Given the description of an element on the screen output the (x, y) to click on. 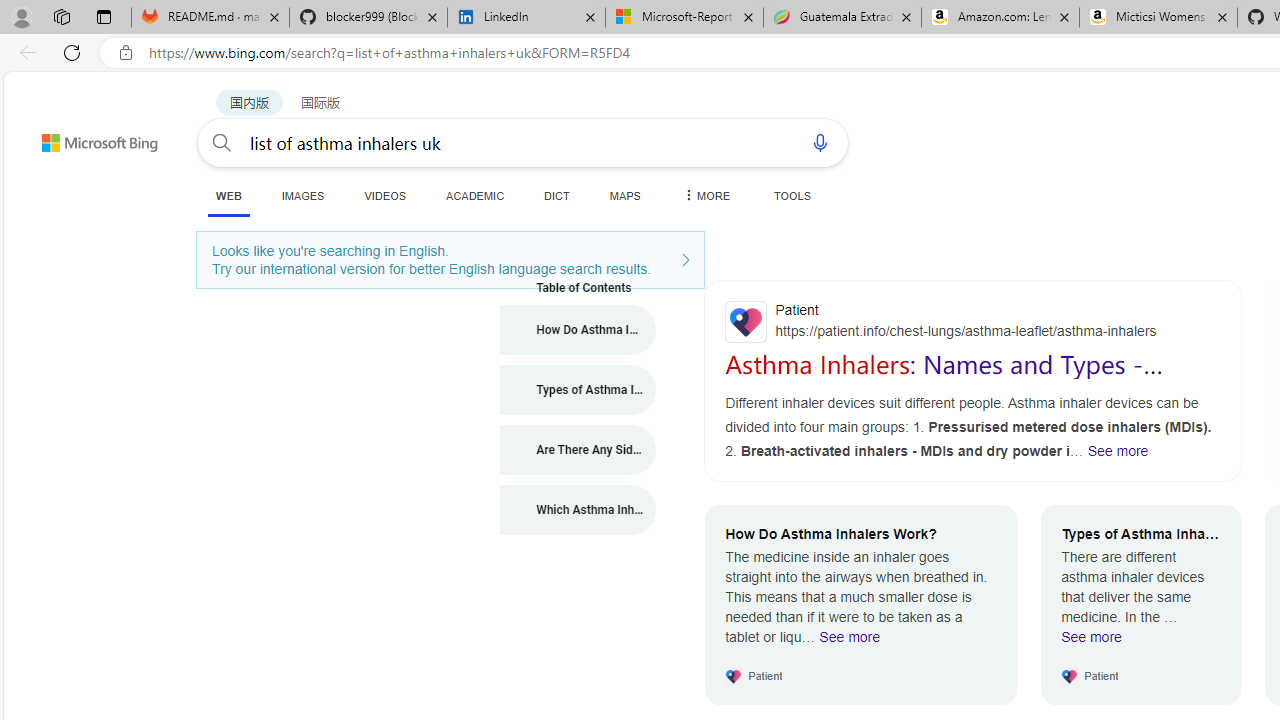
WEB (228, 196)
Asthma Inhalers: Names and Types - Patient (943, 378)
DICT (557, 195)
Skip to content (63, 133)
ACADEMIC (475, 195)
Which Asthma Inhaler Device Should I use? (578, 509)
ACADEMIC (475, 195)
